Given the description of an element on the screen output the (x, y) to click on. 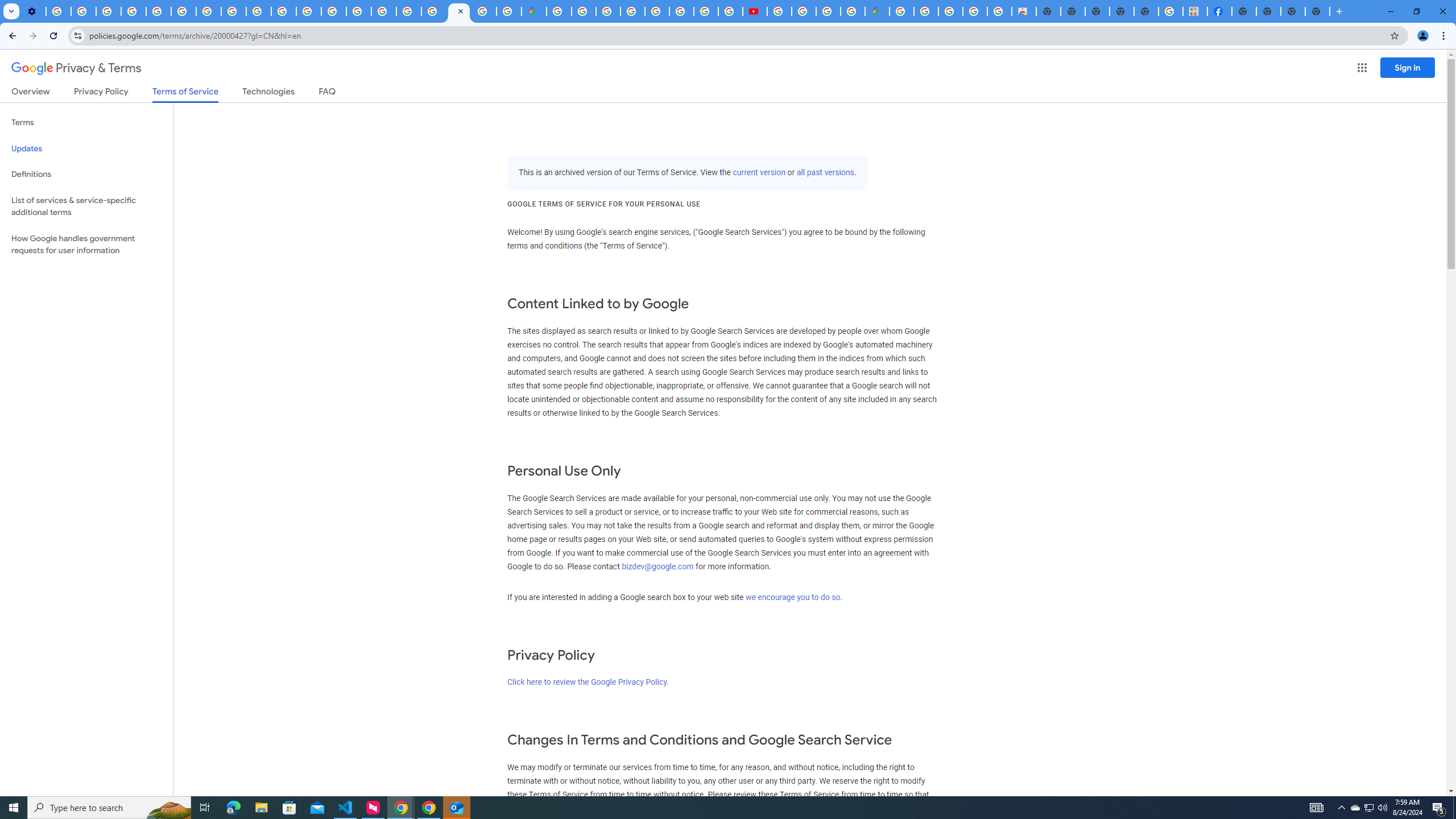
New Tab (1243, 11)
Sign in - Google Accounts (558, 11)
Sign in - Google Accounts (583, 11)
Google Maps (533, 11)
MILEY CYRUS. (1194, 11)
Settings - Customize profile (33, 11)
YouTube (182, 11)
current version (759, 172)
